Given the description of an element on the screen output the (x, y) to click on. 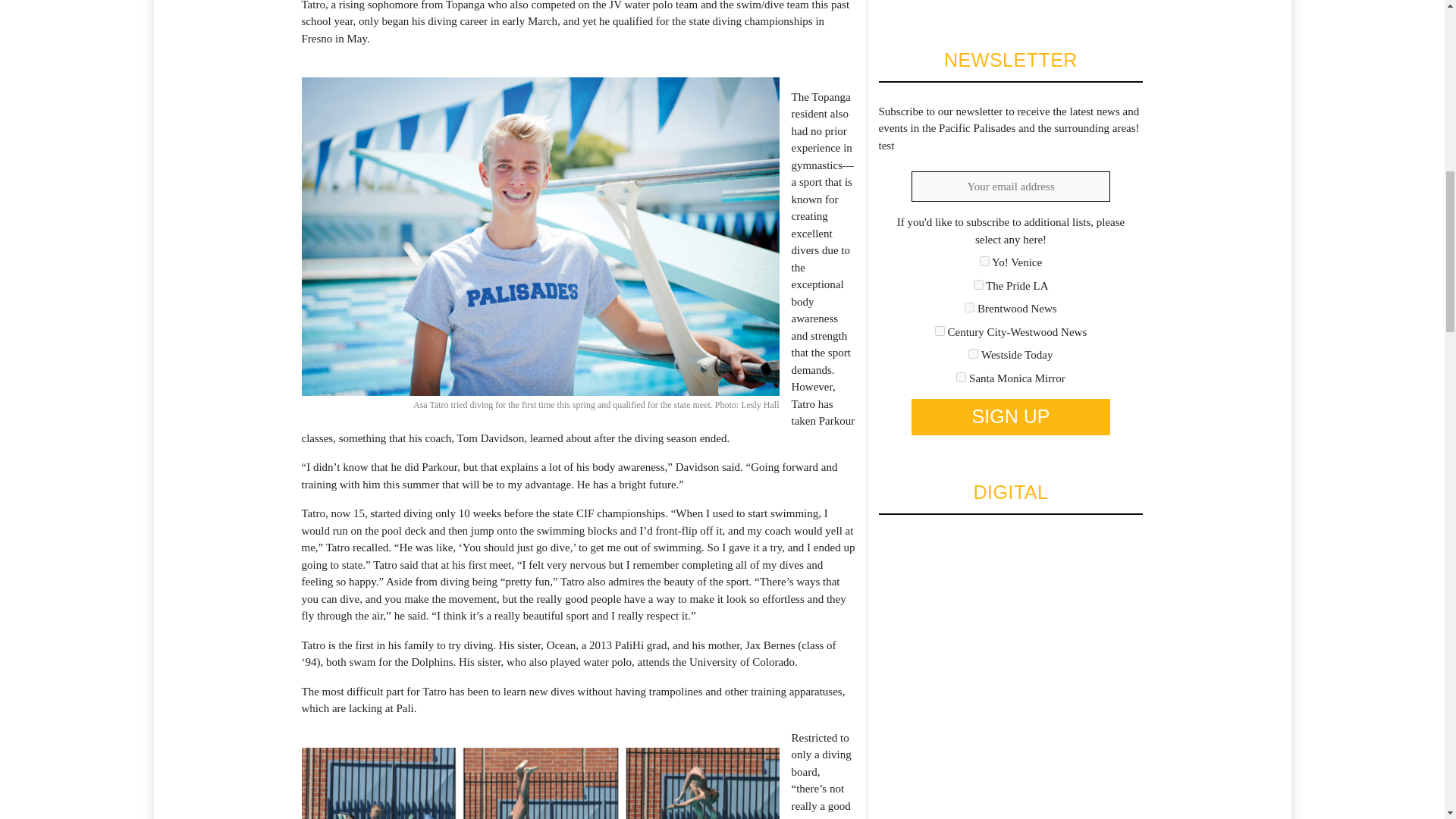
a3d1b6d535 (973, 353)
d0b5733862 (961, 377)
382281a661 (968, 307)
Sign up (1010, 416)
3rd party ad content (991, 1)
33f79e7e4d (979, 284)
5fac618226 (939, 330)
2c616d28b5 (984, 261)
Sign up (1010, 416)
